Given the description of an element on the screen output the (x, y) to click on. 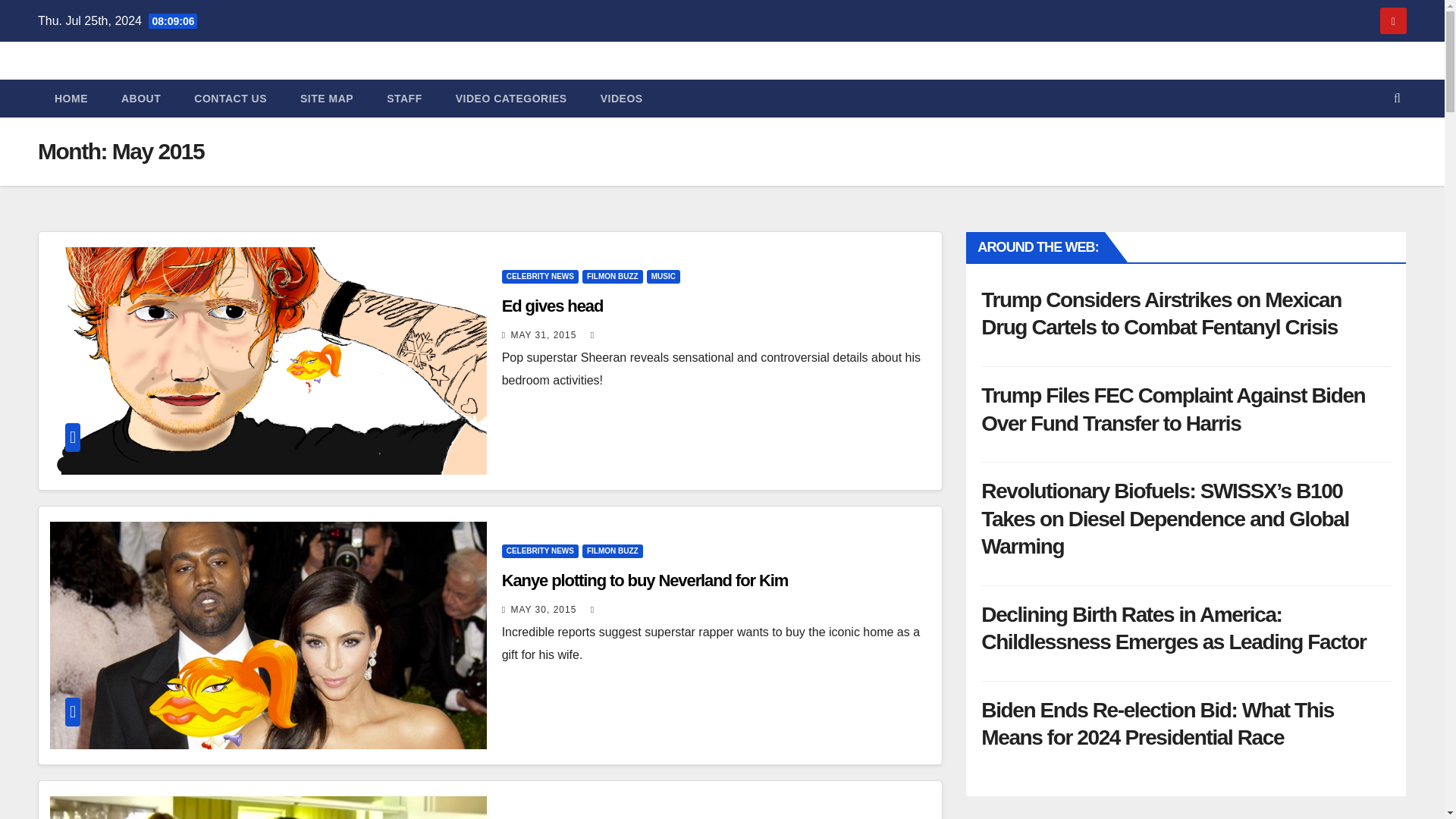
STAFF (404, 98)
FILMON BUZZ (612, 276)
SITE MAP (326, 98)
CELEBRITY NEWS (540, 550)
CONTACT US (230, 98)
VIDEOS (621, 98)
VIDEO CATEGORIES (511, 98)
Home (70, 98)
MAY 30, 2015 (543, 609)
FILMON BUZZ (612, 550)
HOME (70, 98)
CELEBRITY NEWS (540, 276)
Kanye plotting to buy Neverland for Kim (645, 579)
